Given the description of an element on the screen output the (x, y) to click on. 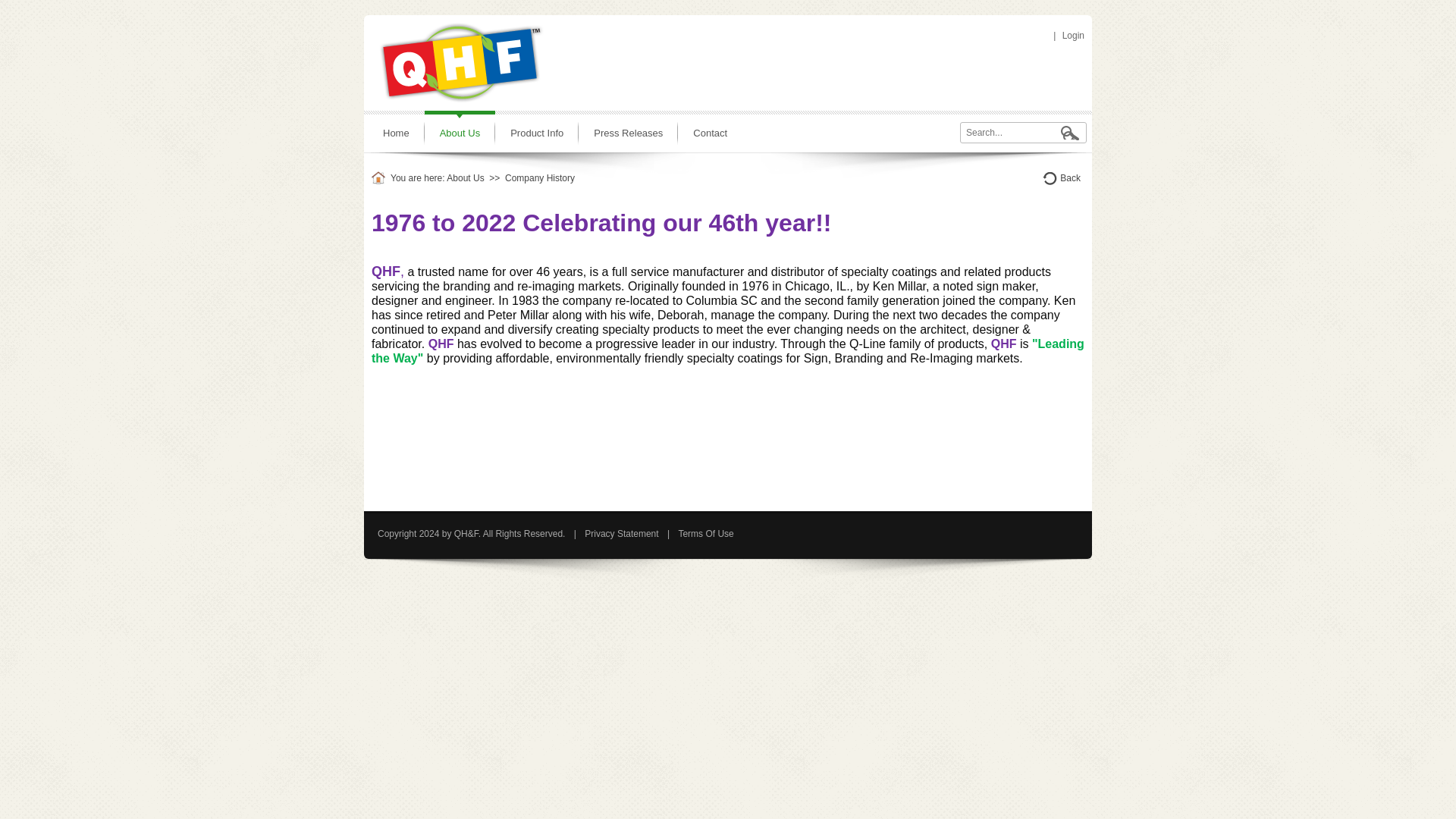
About Us (460, 133)
Terms Of Use (705, 533)
About Us (464, 177)
Privacy Statement (620, 533)
Search (1069, 133)
Clear search text (1072, 133)
Product Info (536, 133)
Login (1071, 35)
Login (1071, 35)
Home (396, 133)
